Given the description of an element on the screen output the (x, y) to click on. 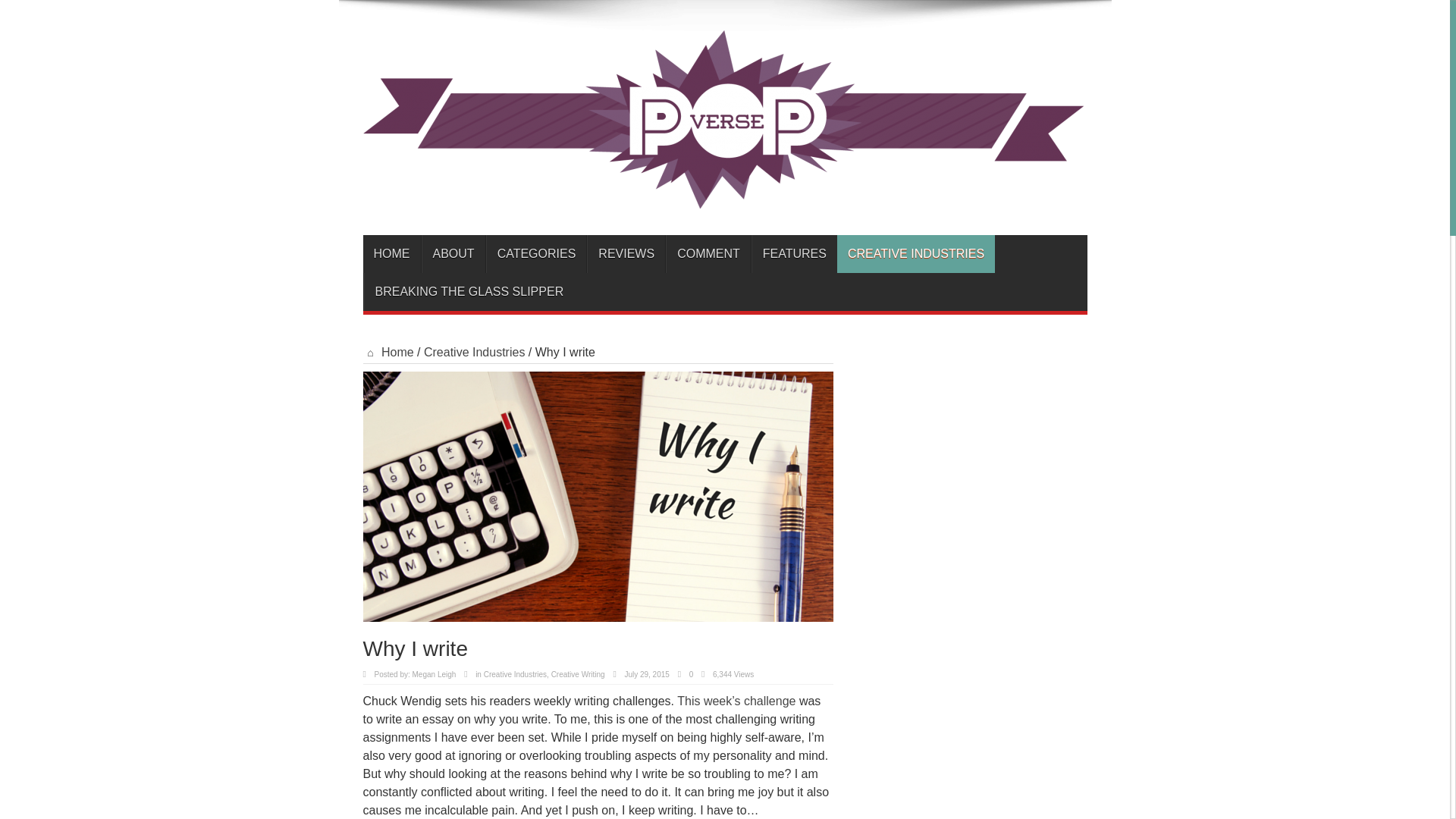
ABOUT (453, 253)
REVIEWS (625, 253)
COMMENT (708, 253)
Creative Industries (473, 351)
CREATIVE INDUSTRIES (915, 253)
Home (387, 351)
Creative Writing (578, 674)
HOME (391, 253)
CATEGORIES (536, 253)
Pop Verse (722, 197)
